Given the description of an element on the screen output the (x, y) to click on. 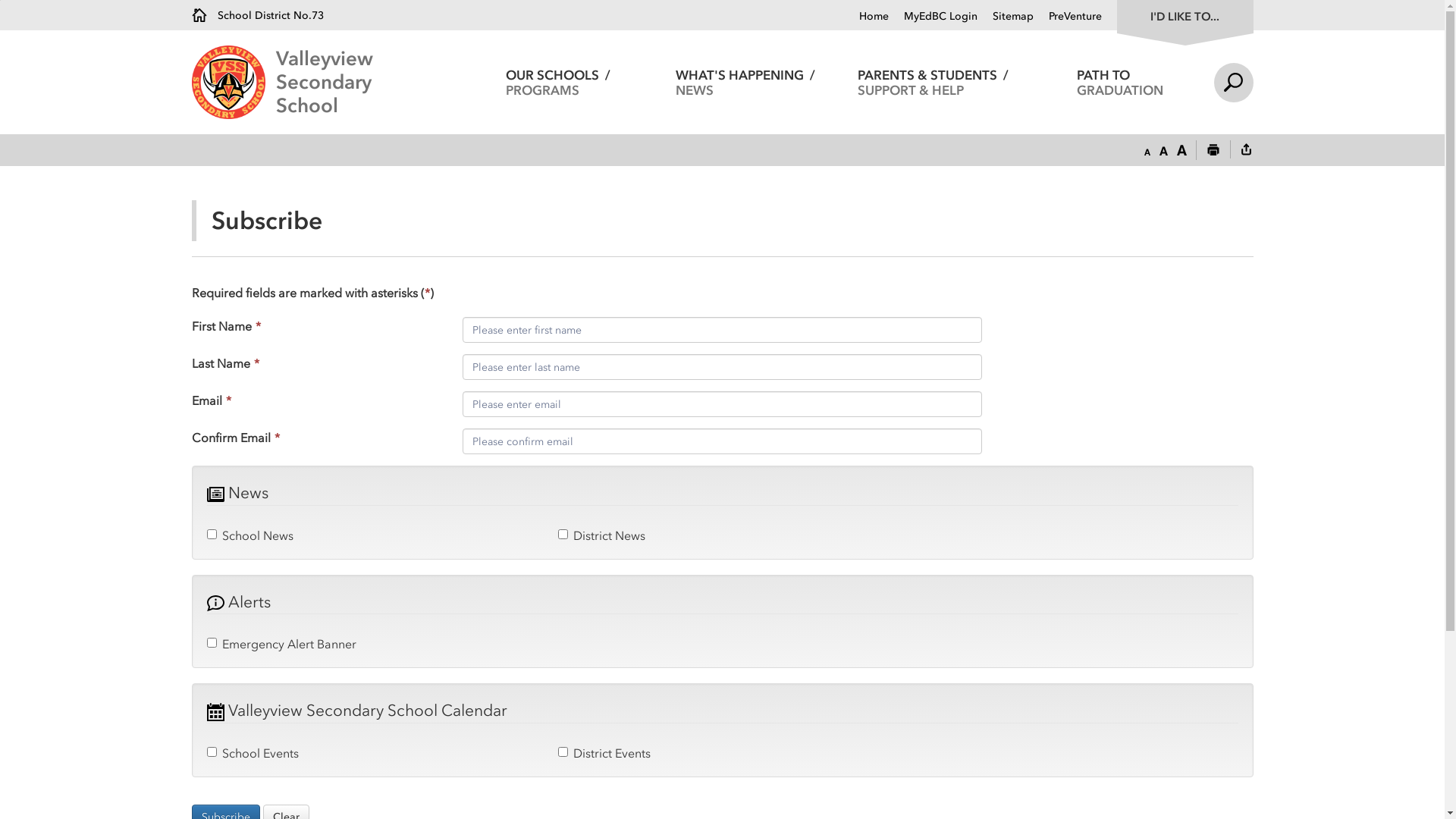
School District No.73 Element type: text (257, 15)
I'D LIKE TO... Element type: text (1184, 15)
Default text size Element type: hover (1162, 150)
WHAT'S HAPPENING
NEWS Element type: text (745, 82)
OUR SCHOOLS
PROGRAMS Element type: text (557, 82)
  Element type: text (1245, 150)
Sitemap Element type: text (1004, 15)
Print This Page Element type: hover (1212, 150)
PARENTS & STUDENTS
SUPPORT & HELP Element type: text (932, 82)
PATH TO
GRADUATION Element type: text (1120, 82)
PreVenture Element type: text (1066, 15)
Decrease text size Element type: hover (1146, 150)
Search Element type: text (1232, 81)
Skip to Content Element type: text (0, 0)
MyEdBC Login Element type: text (932, 15)
Home Element type: text (873, 15)
Click to return to the homepage Element type: hover (233, 82)
Increase text size Element type: hover (1181, 150)
Valleyview Secondary
School Element type: text (370, 82)
